Given the description of an element on the screen output the (x, y) to click on. 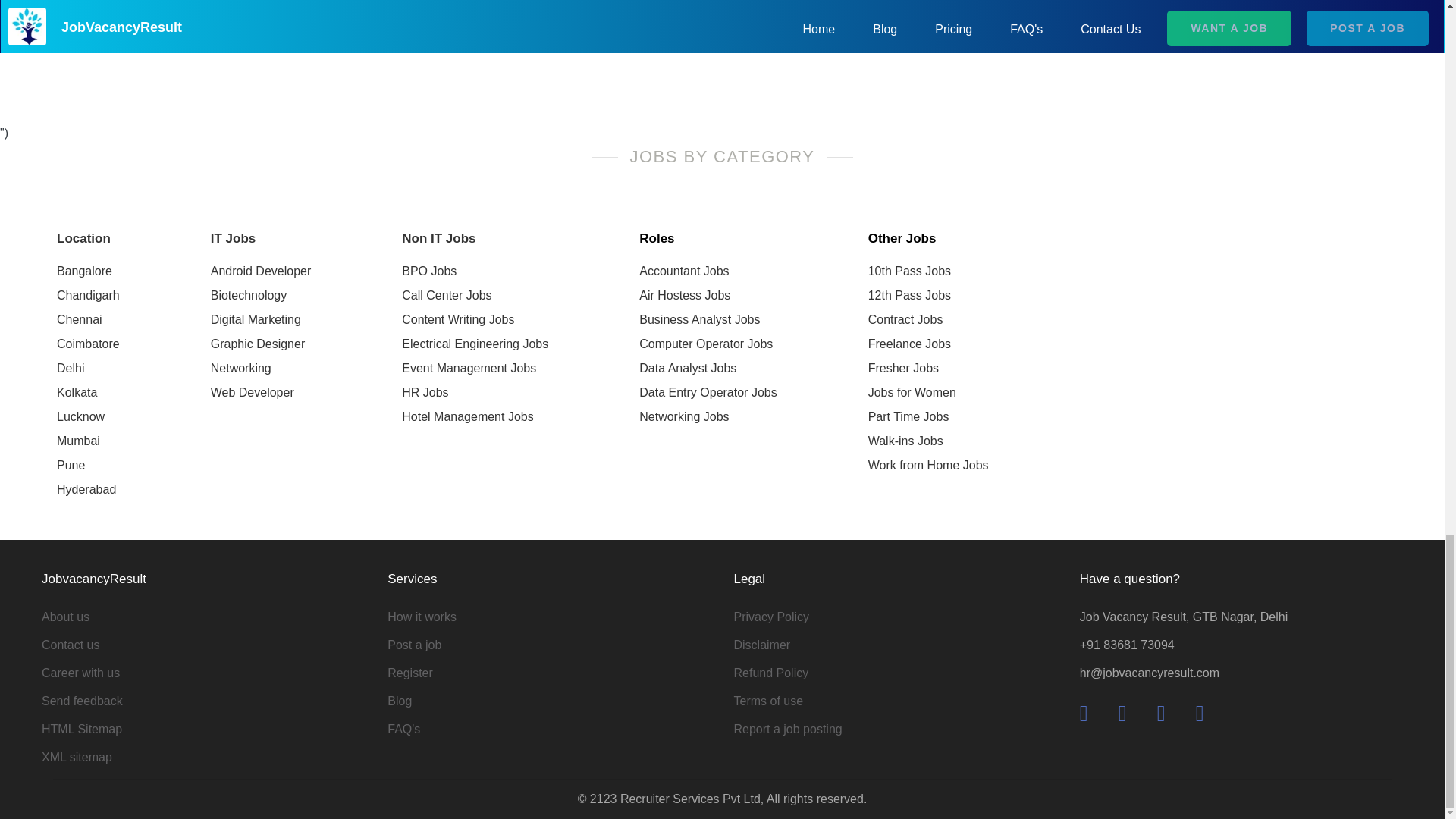
Hyderabad (88, 489)
Chandigarh (88, 295)
Android Developer (260, 271)
Pune (88, 465)
Biotechnology (260, 295)
Coimbatore (88, 344)
Web Developer (260, 392)
Location (88, 238)
Bangalore (88, 271)
Lucknow (88, 416)
IT Jobs (260, 238)
Graphic Designer (260, 344)
Delhi (88, 368)
Chennai (88, 319)
Kolkata (88, 392)
